Given the description of an element on the screen output the (x, y) to click on. 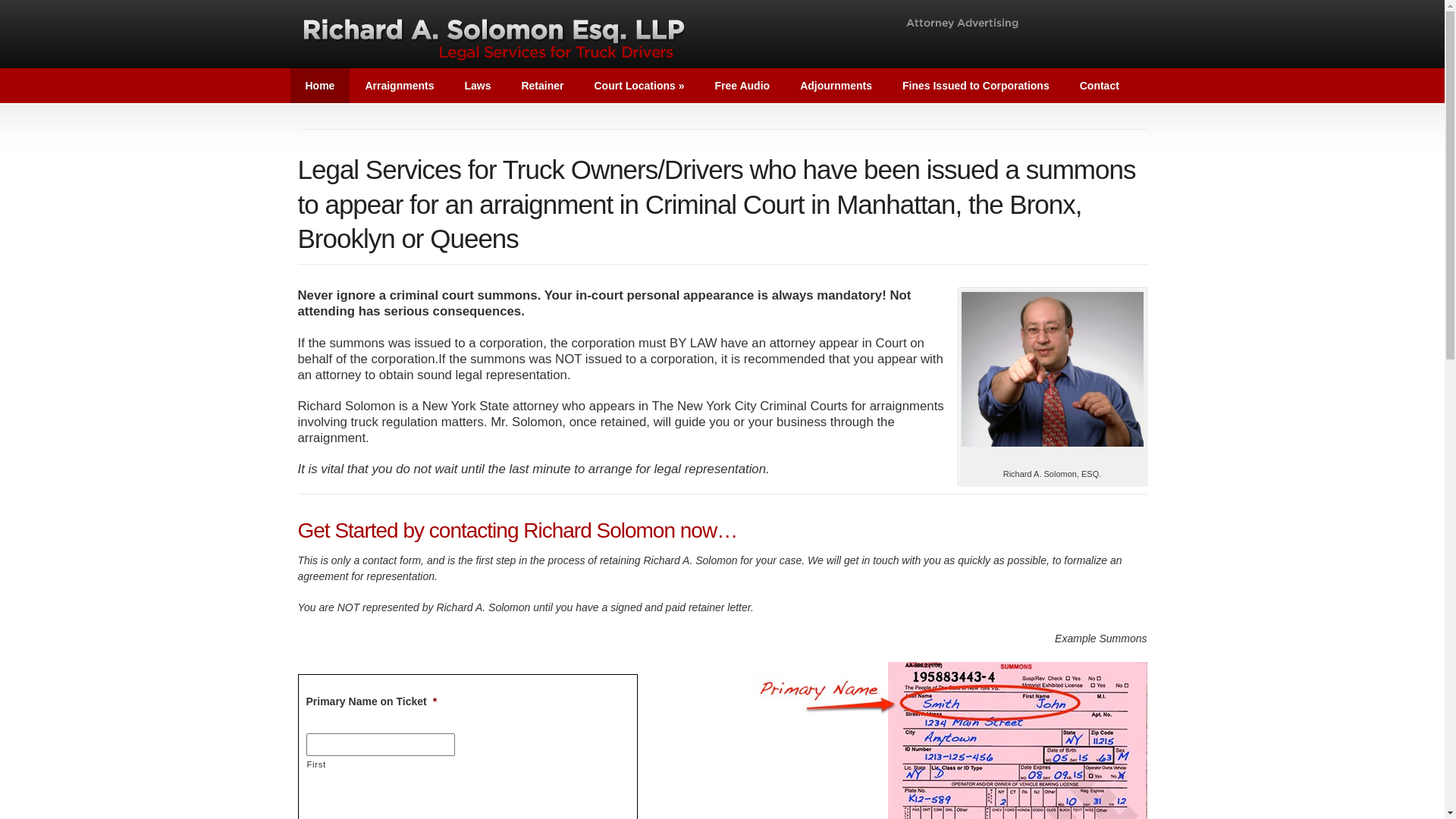
Adjournments Element type: text (835, 85)
Retainer Element type: text (541, 85)
Richard A. Solomon ESQ. LLP Element type: text (657, 34)
Free Audio Element type: text (742, 85)
Laws Element type: text (476, 85)
Home Element type: text (319, 85)
Contact Element type: text (1099, 85)
Arraignments Element type: text (398, 85)
Richard A. Solomon, ESQ. Element type: hover (1052, 368)
Submit Element type: text (27, 5)
Fines Issued to Corporations Element type: text (975, 85)
